Given the description of an element on the screen output the (x, y) to click on. 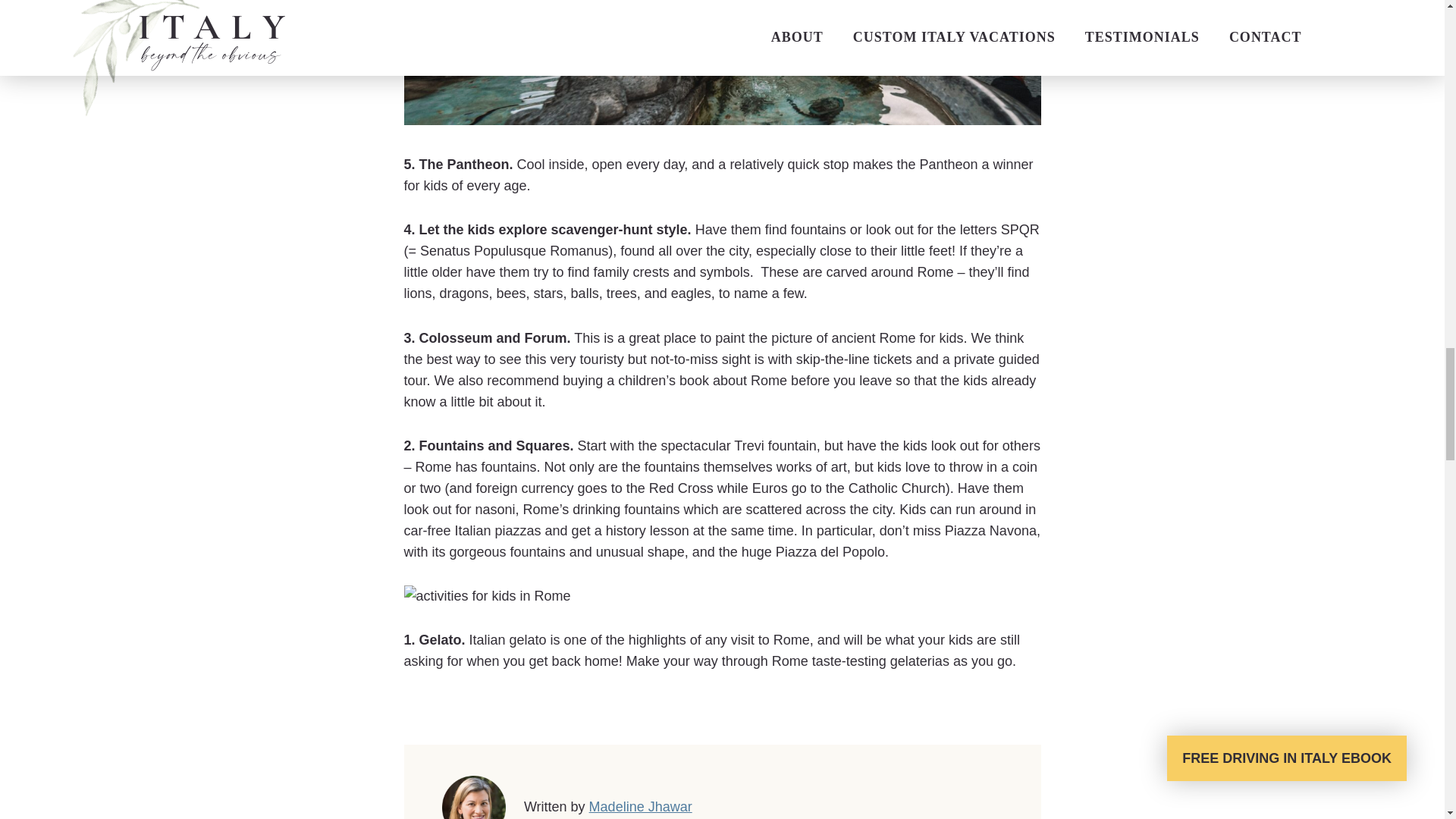
Madeline Jhawar (641, 806)
